Given the description of an element on the screen output the (x, y) to click on. 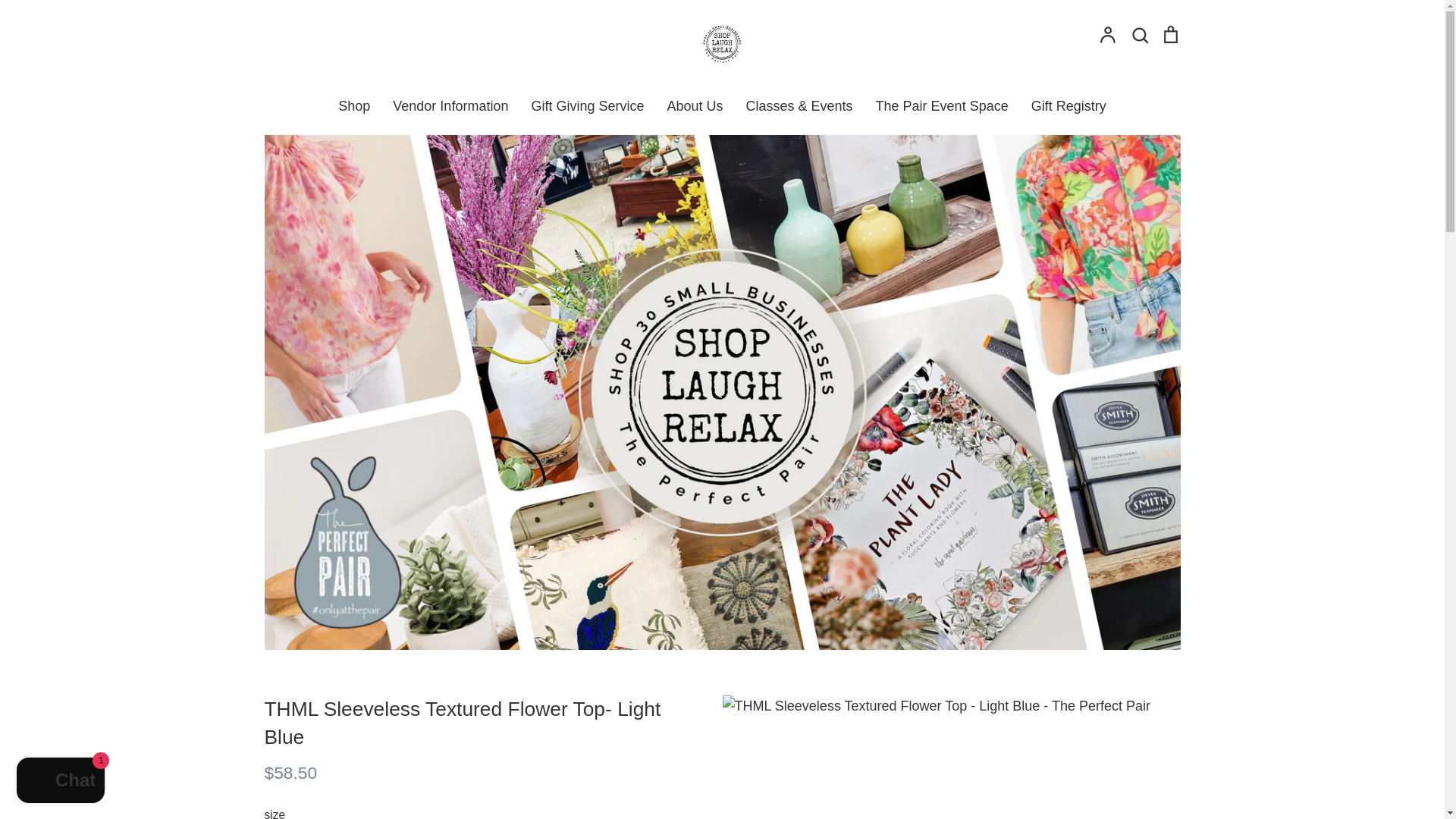
Cart (1169, 34)
Shopify online store chat (60, 781)
Shop (353, 105)
Account (1107, 34)
Search (1139, 34)
